Given the description of an element on the screen output the (x, y) to click on. 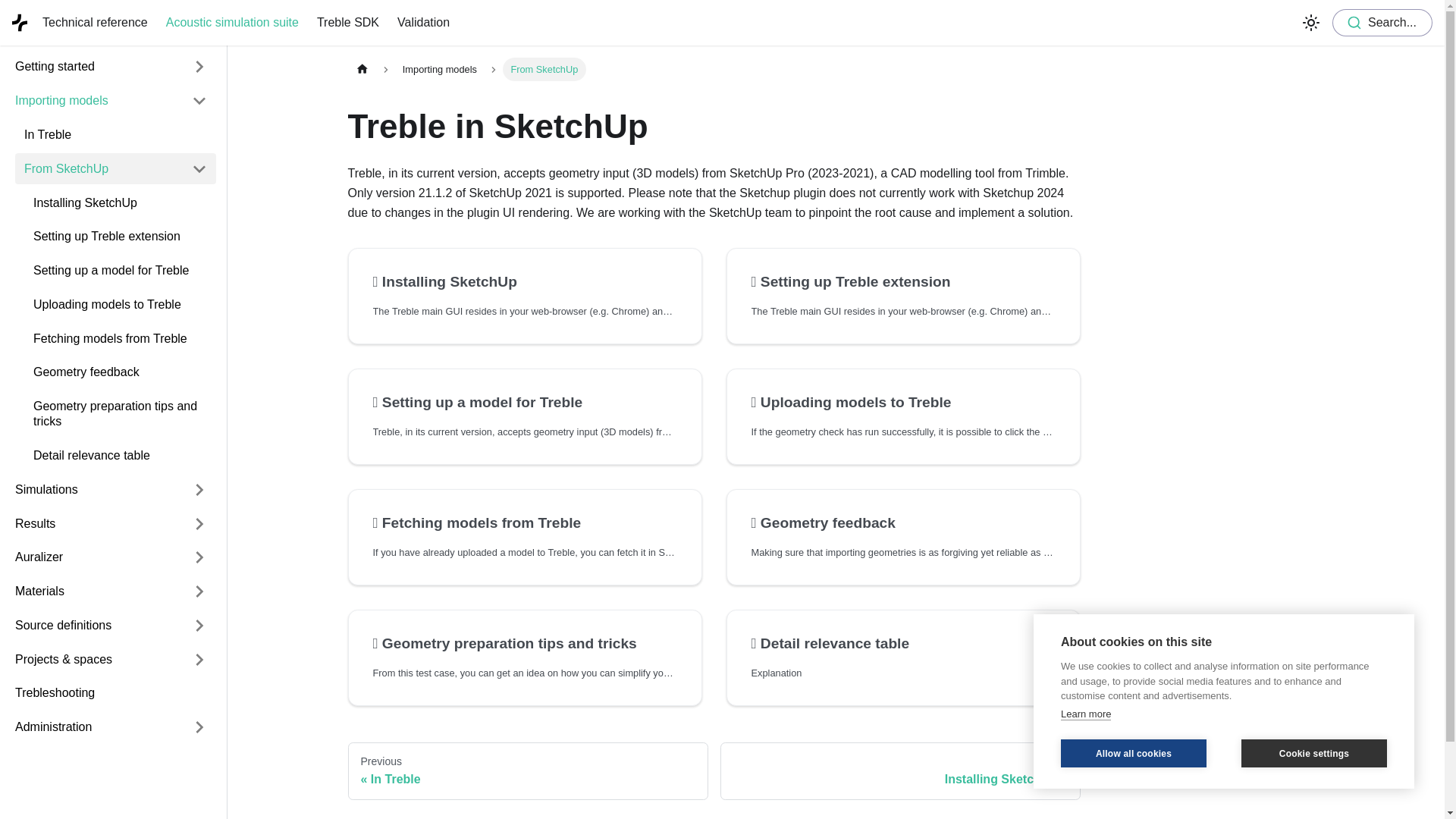
Setting up a model for Treble (119, 270)
Explanation (902, 672)
Setting up a model for Treble (524, 402)
Uploading models to Treble (119, 304)
Geometry feedback (119, 372)
Technical reference (95, 22)
Detail relevance table (902, 643)
Simulations (94, 489)
